Given the description of an element on the screen output the (x, y) to click on. 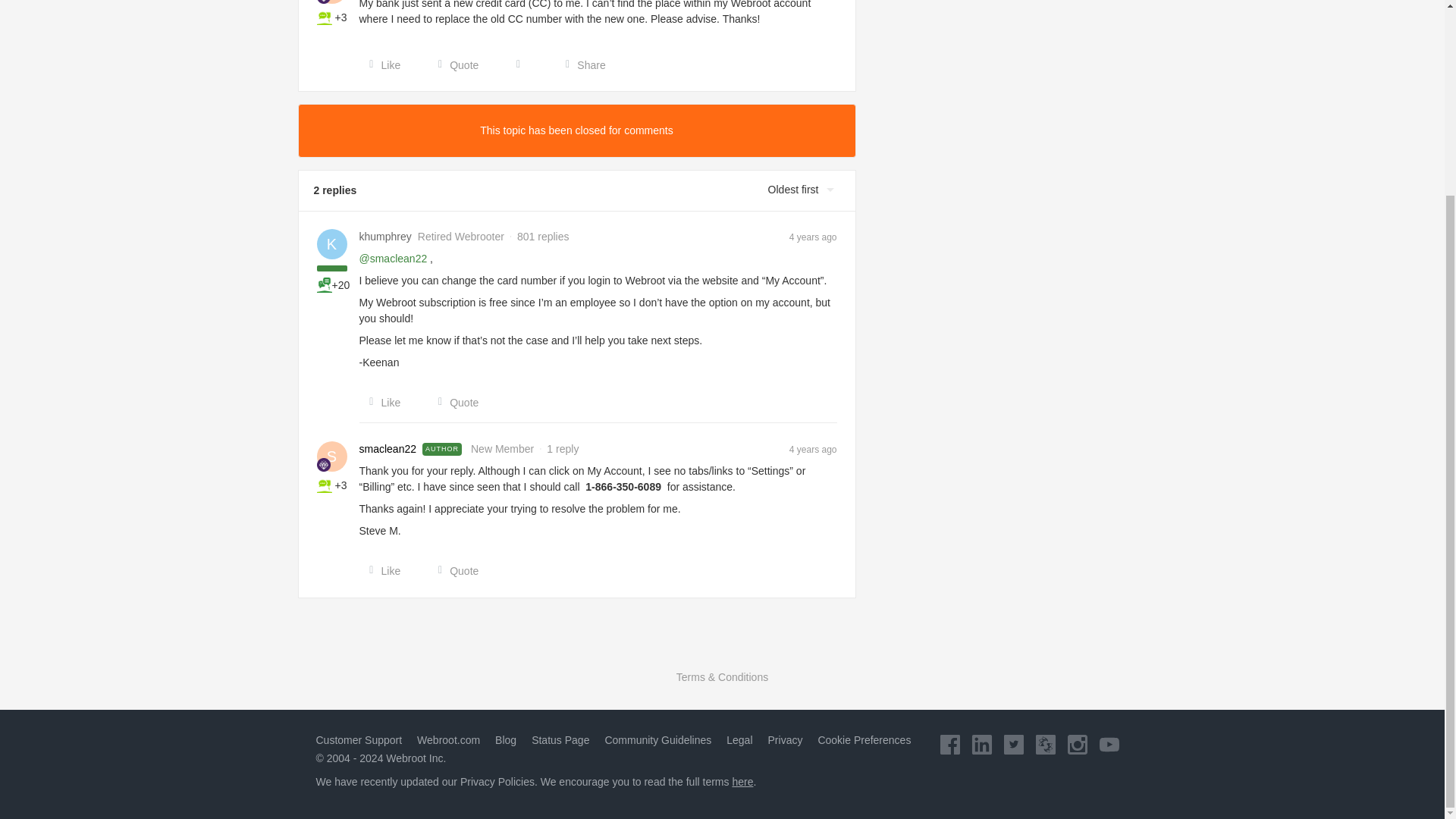
Like (380, 570)
Like (380, 402)
Customer Support (358, 739)
News: Posted 1 comment! (324, 284)
New Member (323, 464)
Quote (453, 64)
Like (380, 64)
Visit Gainsight.com (722, 645)
K (332, 244)
S (332, 2)
Product Help: Posted 1 topic! (324, 17)
Product Help: Posted 1 topic! (324, 485)
khumphrey (385, 236)
New Member (323, 2)
Quote (453, 402)
